Given the description of an element on the screen output the (x, y) to click on. 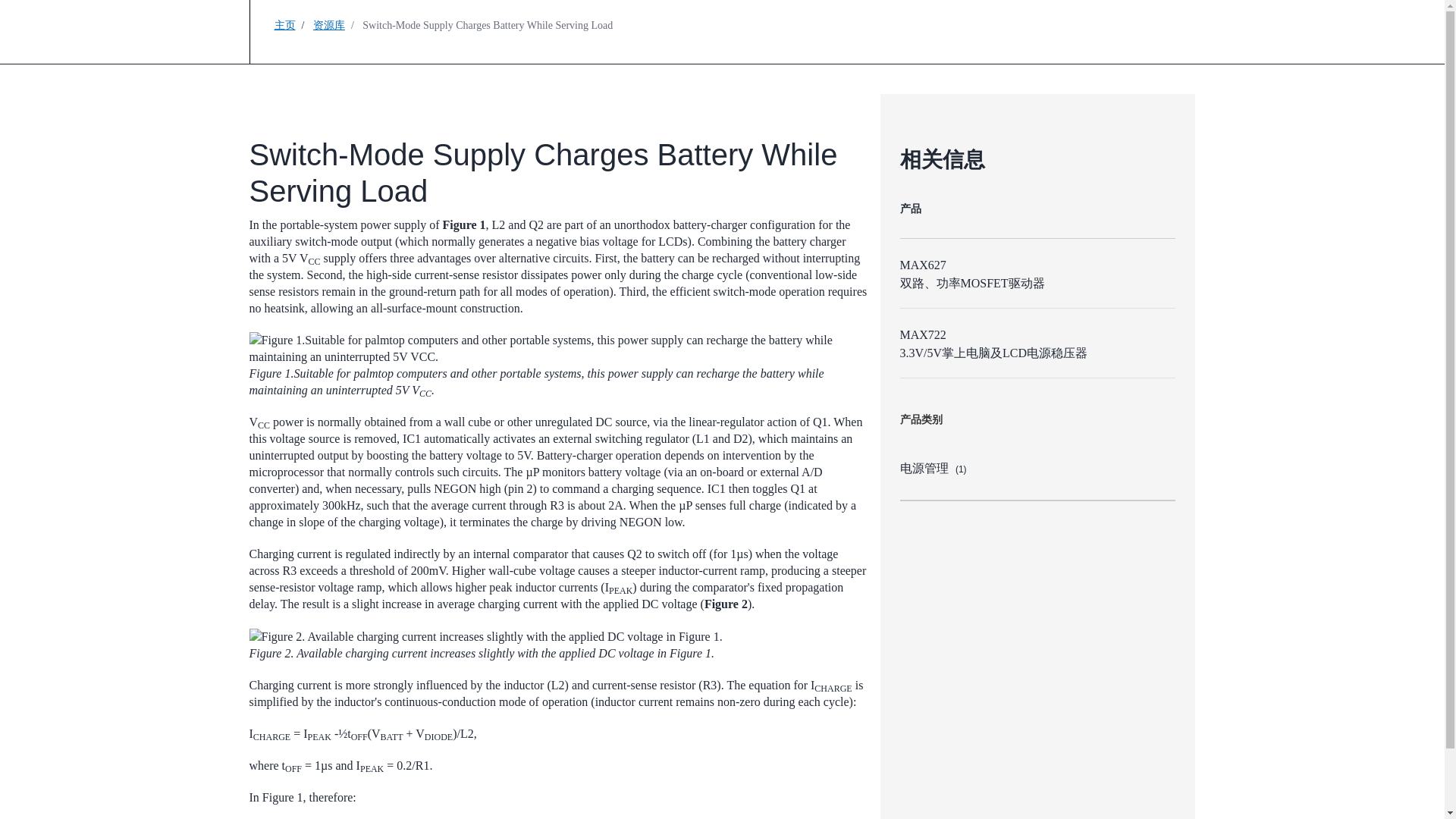
MAX627 (921, 264)
MAX722 (921, 334)
